Given the description of an element on the screen output the (x, y) to click on. 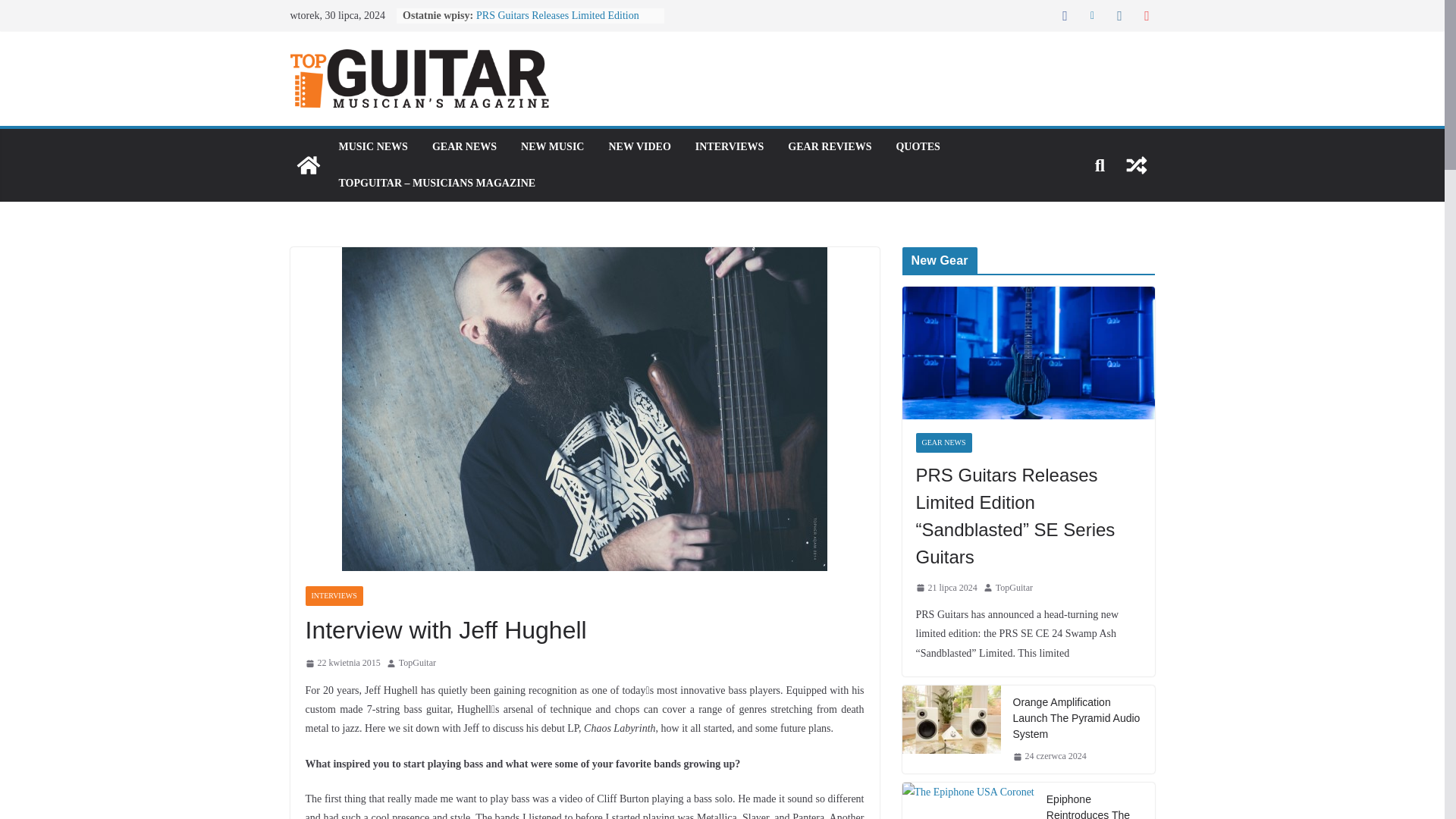
TopGuitar (416, 663)
TopGuitar (416, 663)
NEW VIDEO (638, 147)
15:17 (342, 663)
NEW MUSIC (552, 147)
QUOTES (917, 147)
MUSIC NEWS (372, 147)
INTERVIEWS (729, 147)
Zobacz losowy wpis (1136, 165)
TopGuitar.eu (307, 165)
